Given the description of an element on the screen output the (x, y) to click on. 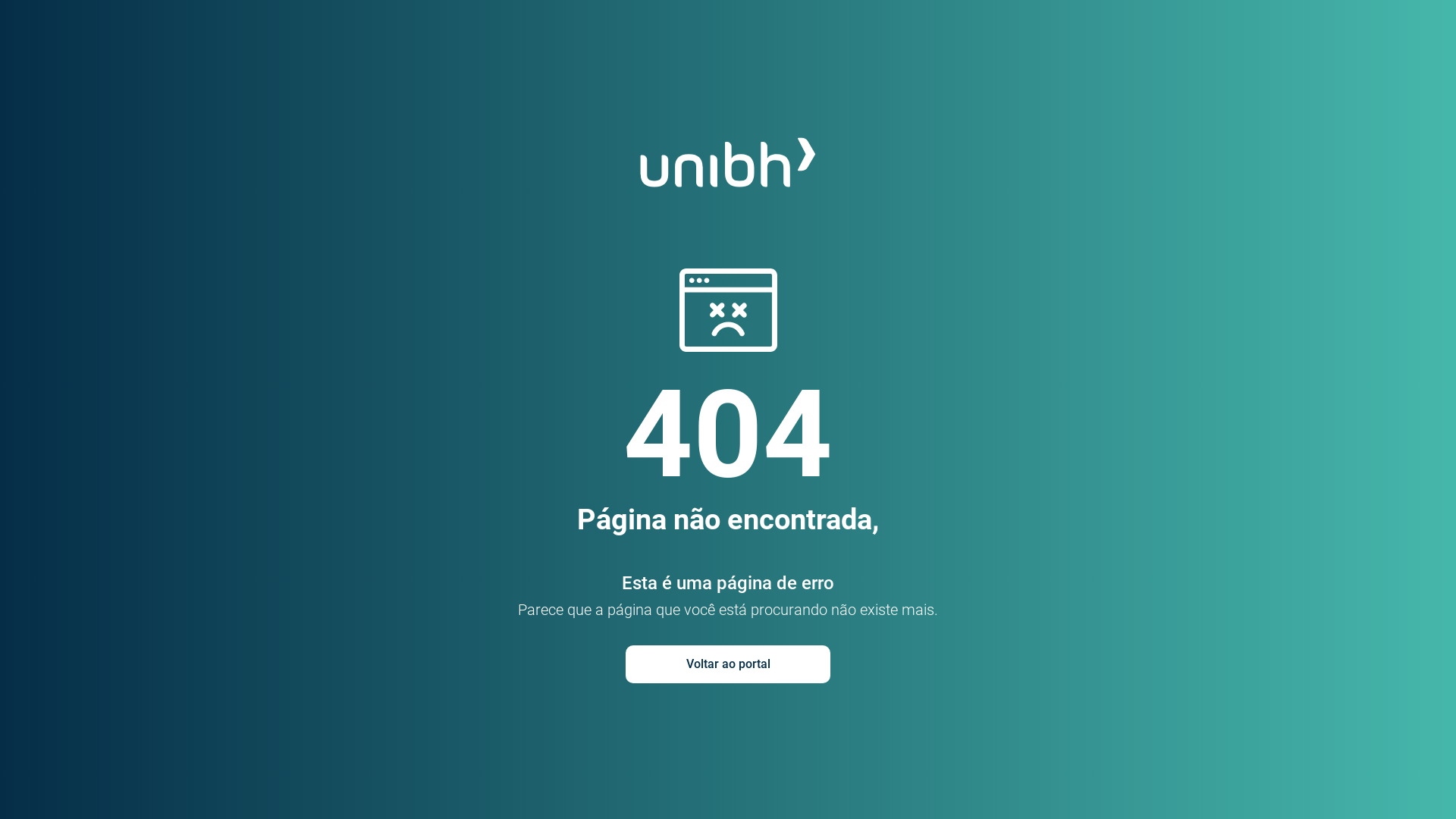
Voltar ao portal Element type: text (727, 664)
